Given the description of an element on the screen output the (x, y) to click on. 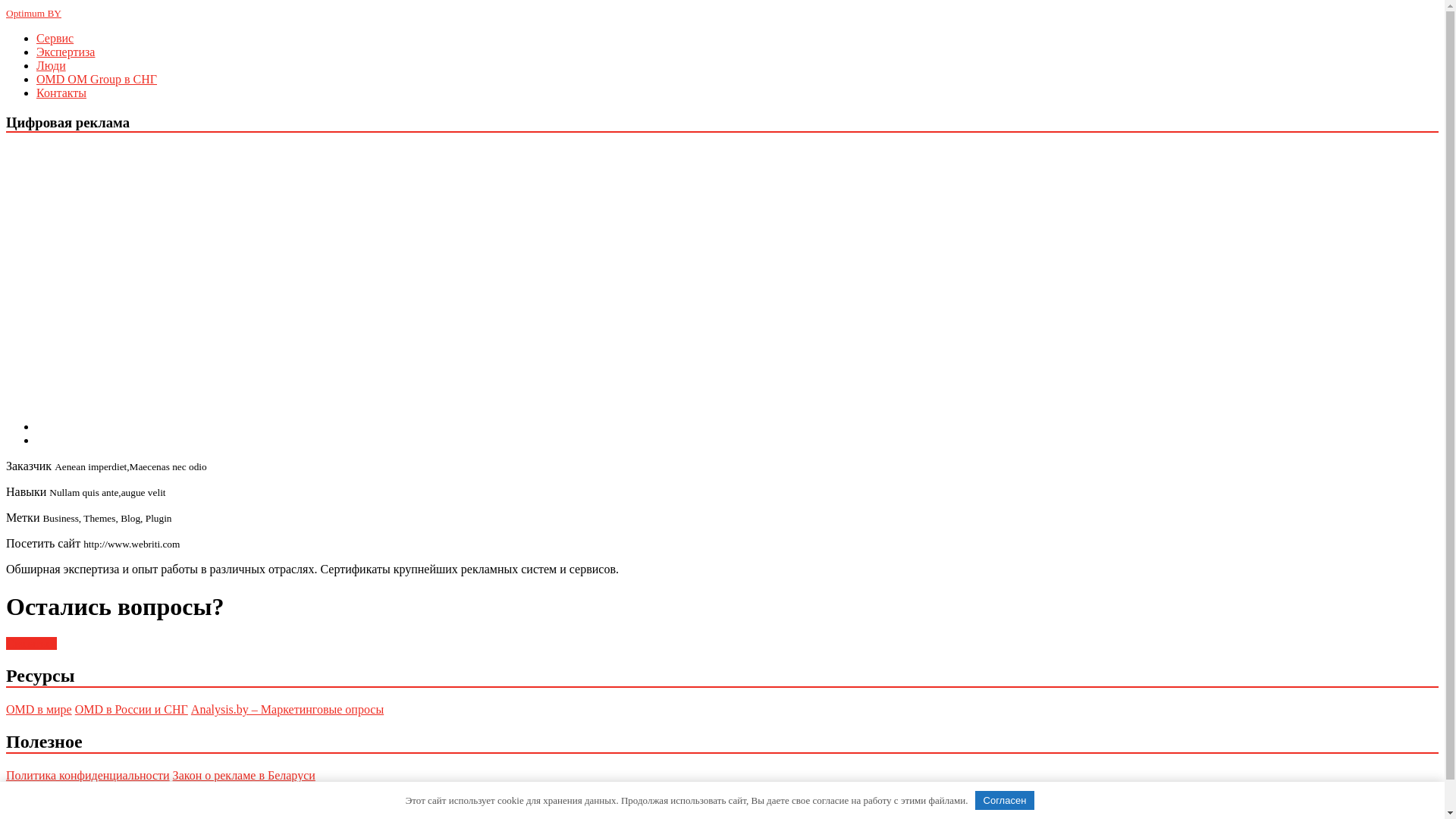
Optimum BY Element type: text (33, 12)
